Given the description of an element on the screen output the (x, y) to click on. 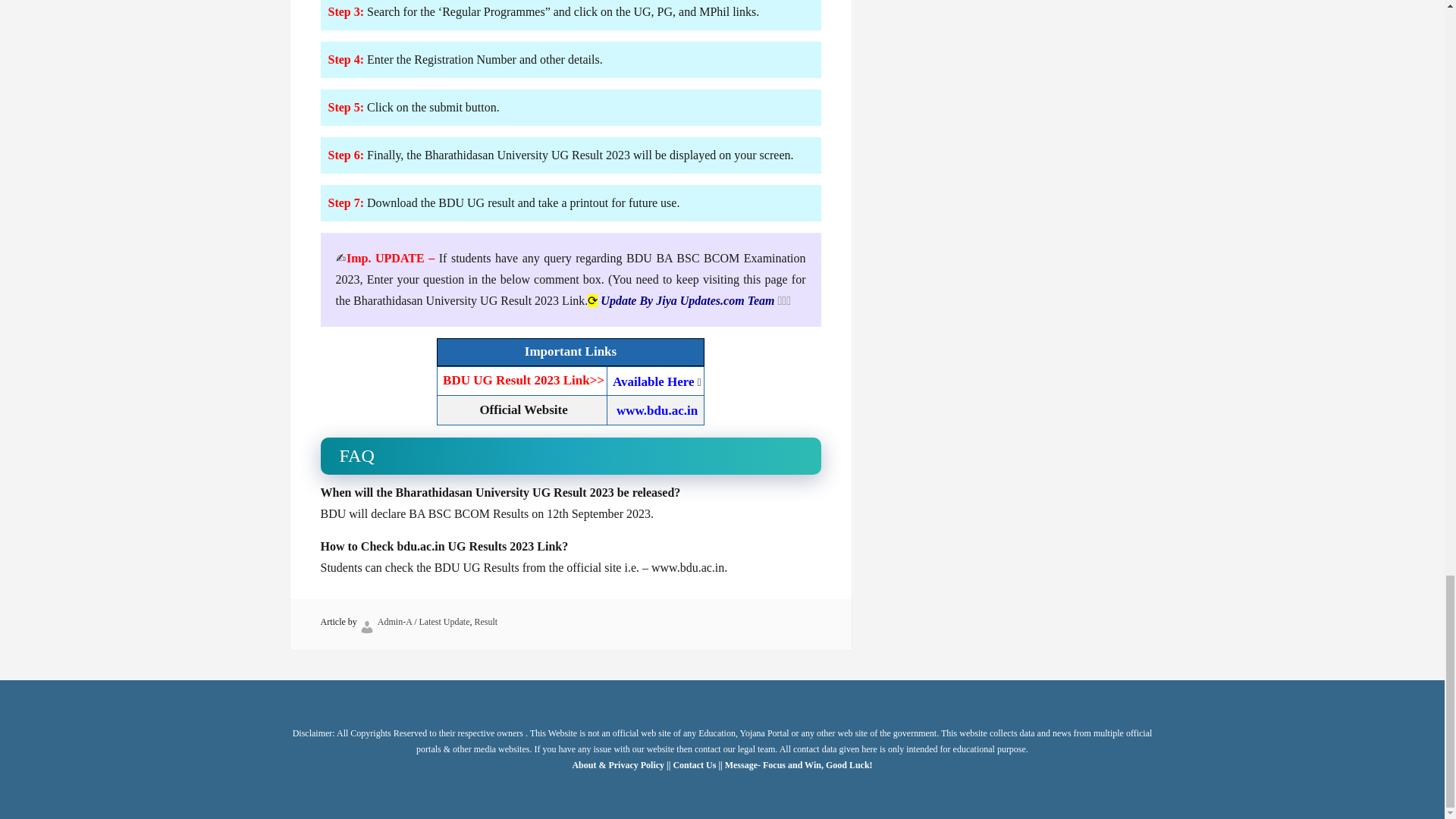
Admin-A (394, 621)
Latest Update (444, 621)
www.bdu.ac.in (656, 410)
Result (485, 621)
Available Here (653, 381)
